Given the description of an element on the screen output the (x, y) to click on. 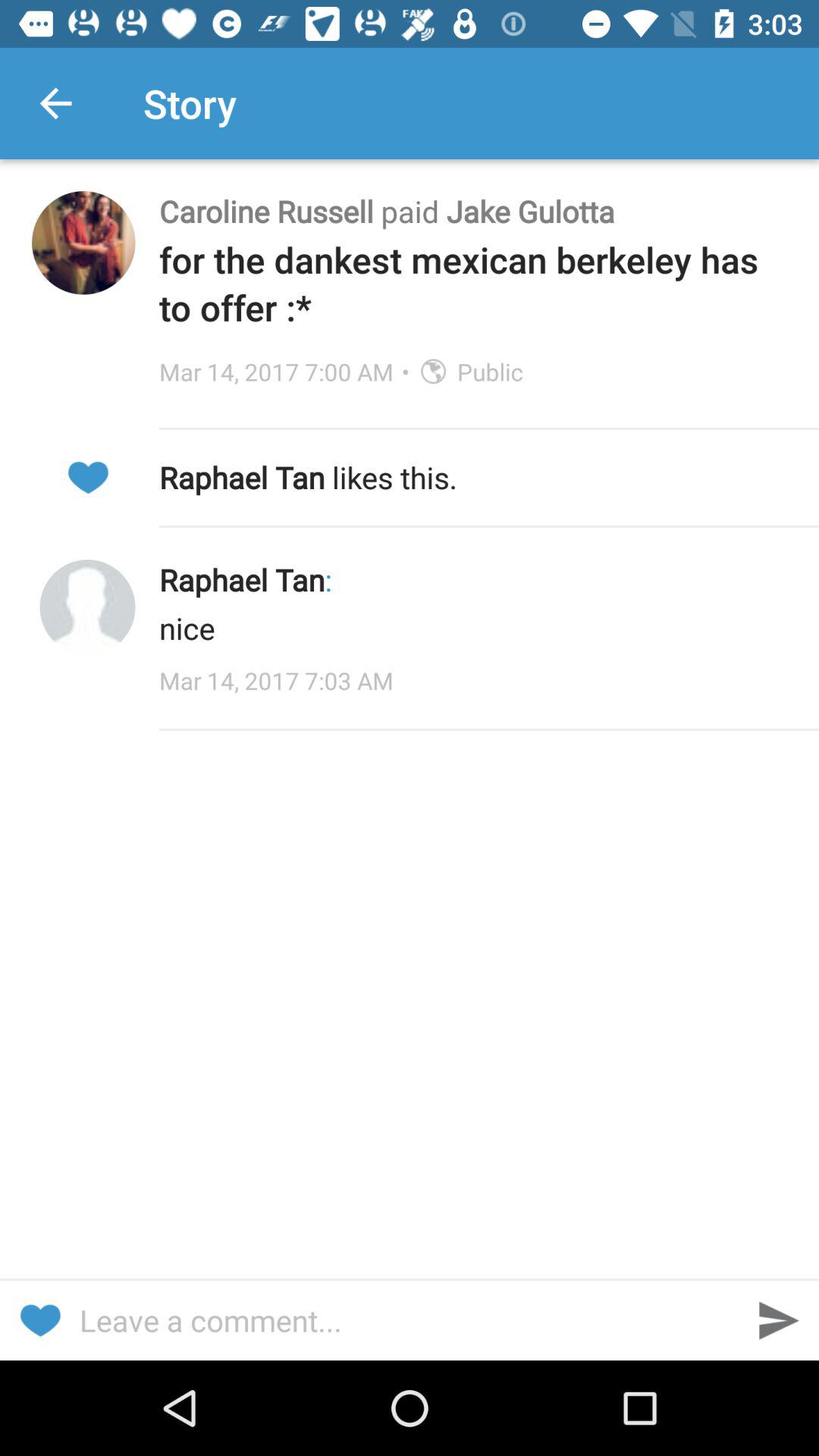
like this story (39, 1320)
